Given the description of an element on the screen output the (x, y) to click on. 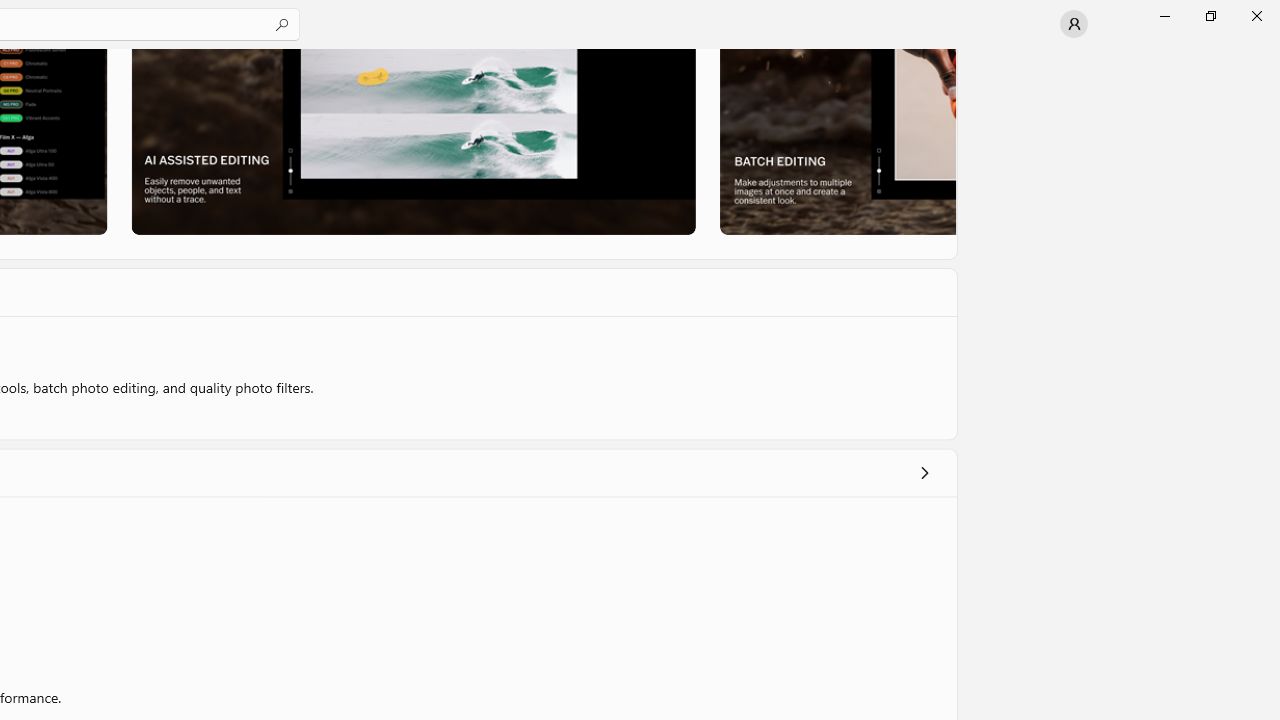
Screenshot 3 (836, 141)
Screenshot 2 (412, 141)
Show all ratings and reviews (924, 471)
